Given the description of an element on the screen output the (x, y) to click on. 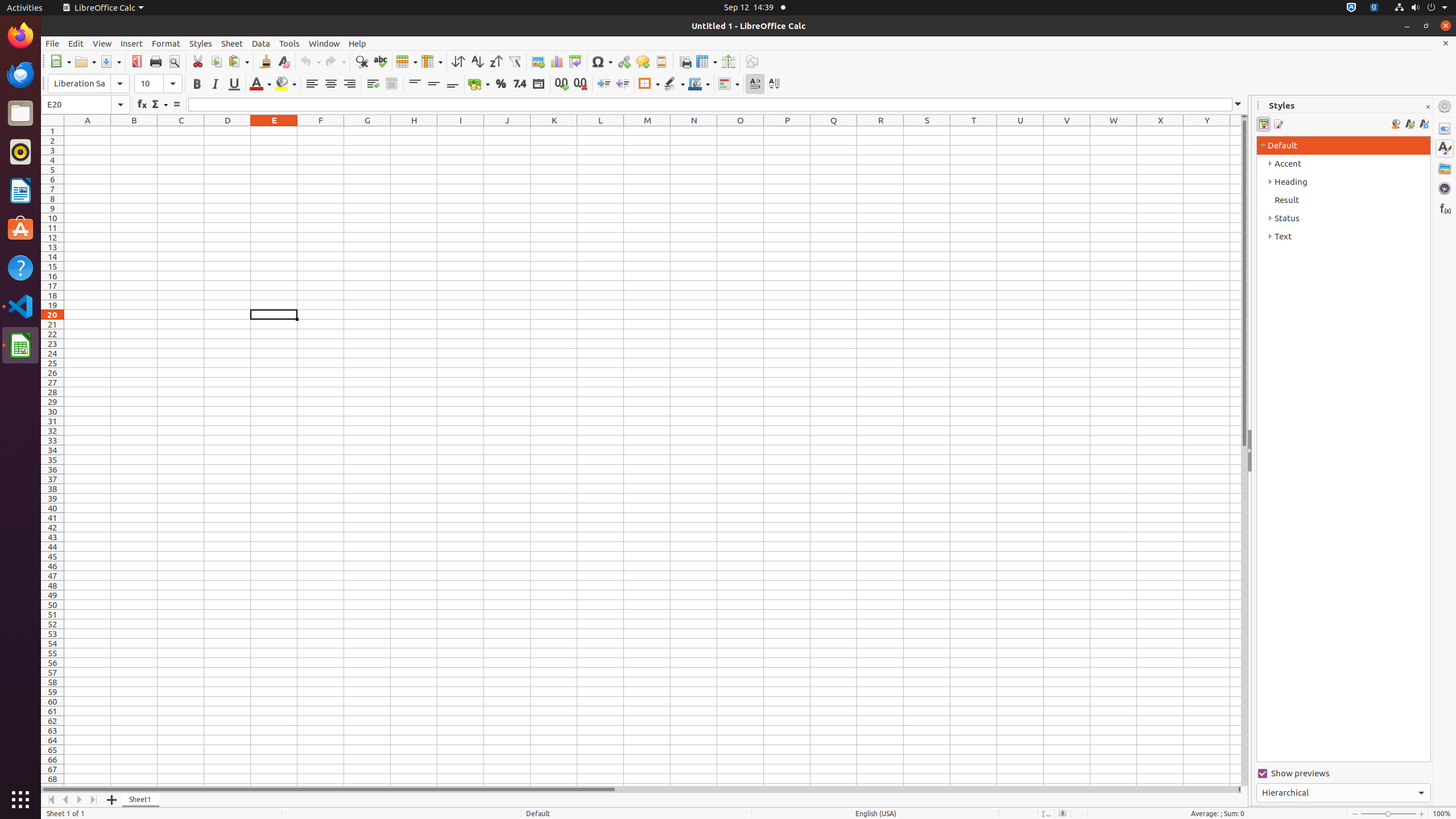
Copy Element type: push-button (216, 61)
Sheet Sheet1 Element type: table (652, 456)
Italic Element type: toggle-button (214, 83)
Fill Format Mode Element type: push-button (1395, 123)
Draw Functions Element type: toggle-button (751, 61)
